Given the description of an element on the screen output the (x, y) to click on. 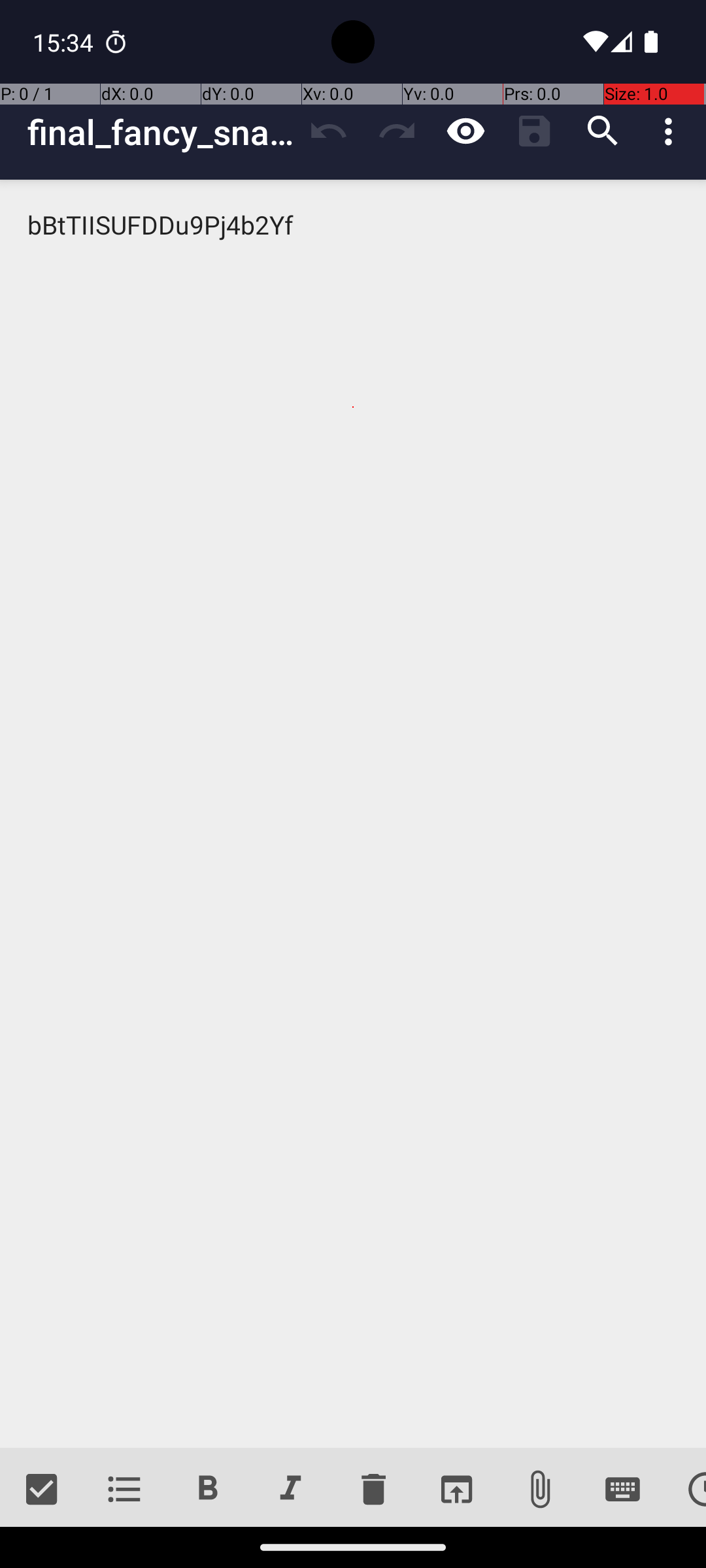
final_fancy_snake Element type: android.widget.TextView (160, 131)
bBtTIISUFDDu9Pj4b2Yf
 Element type: android.widget.EditText (353, 813)
